Given the description of an element on the screen output the (x, y) to click on. 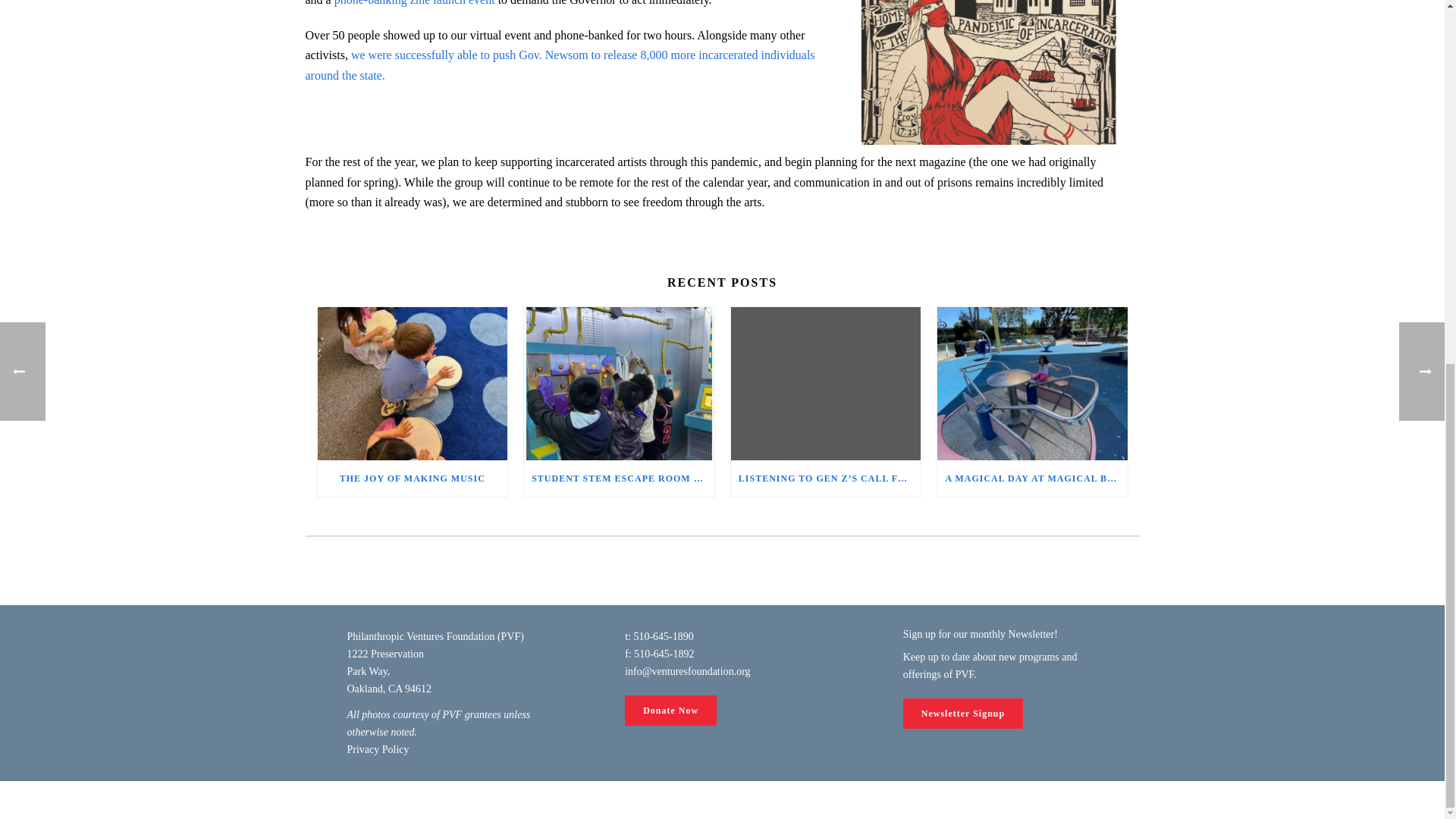
Donate Now (670, 710)
Newsletter Signup (962, 713)
zine (988, 72)
The Joy of Making Music (411, 383)
A Magical Day At Magical Bridges Learning Lab (1031, 383)
Student STEM Escape Room Project (619, 383)
